Given the description of an element on the screen output the (x, y) to click on. 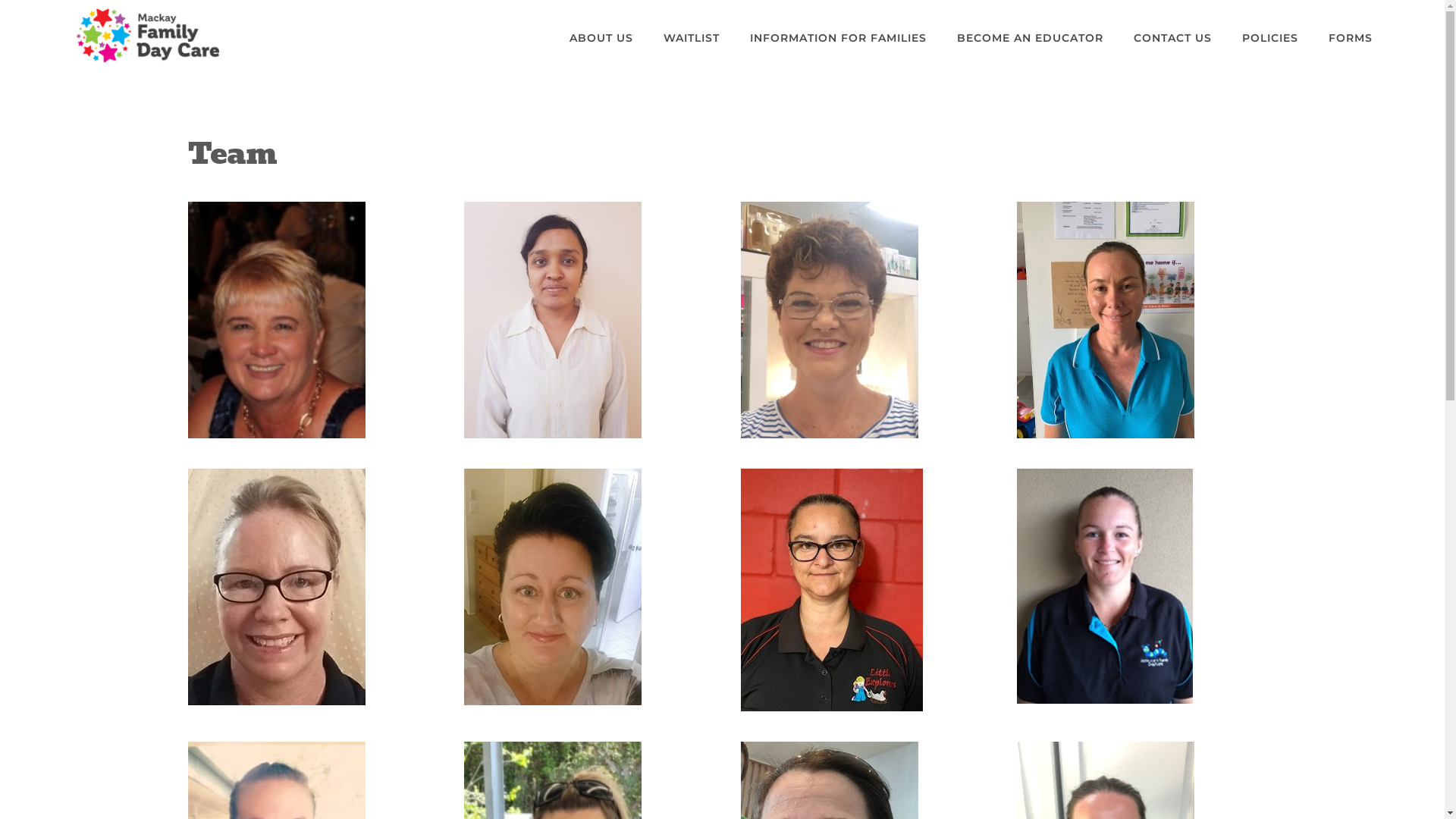
BECOME AN EDUCATOR Element type: text (1030, 38)
INFORMATION FOR FAMILIES Element type: text (837, 38)
CONTACT US Element type: text (1172, 38)
POLICIES Element type: text (1270, 38)
WAITLIST Element type: text (691, 38)
Skip to primary navigation Element type: text (0, 0)
ABOUT US Element type: text (601, 38)
Mackay Family Day Care Element type: text (147, 35)
FORMS Element type: text (1350, 38)
